Given the description of an element on the screen output the (x, y) to click on. 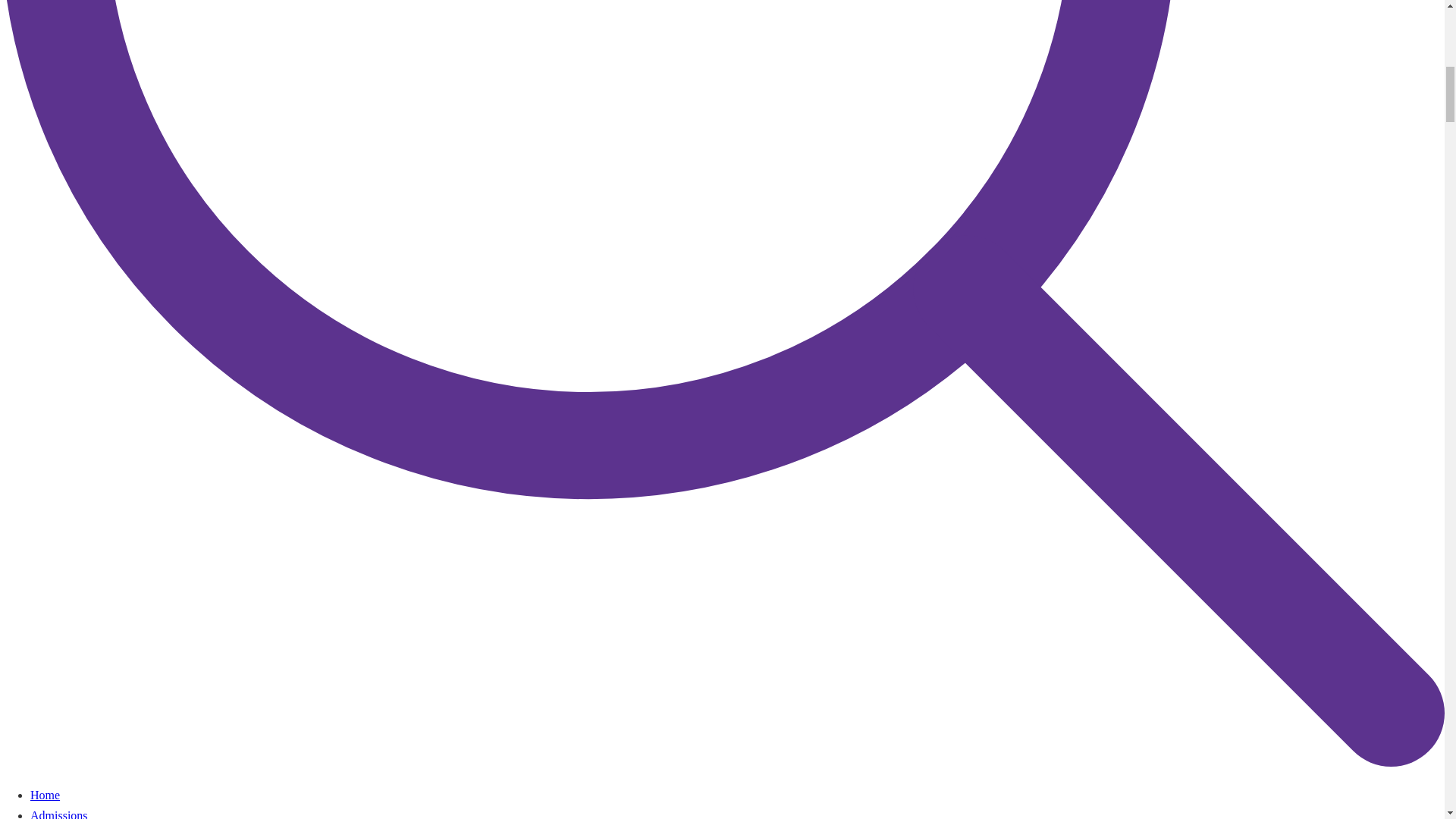
Home (44, 794)
Admissions (58, 814)
